Given the description of an element on the screen output the (x, y) to click on. 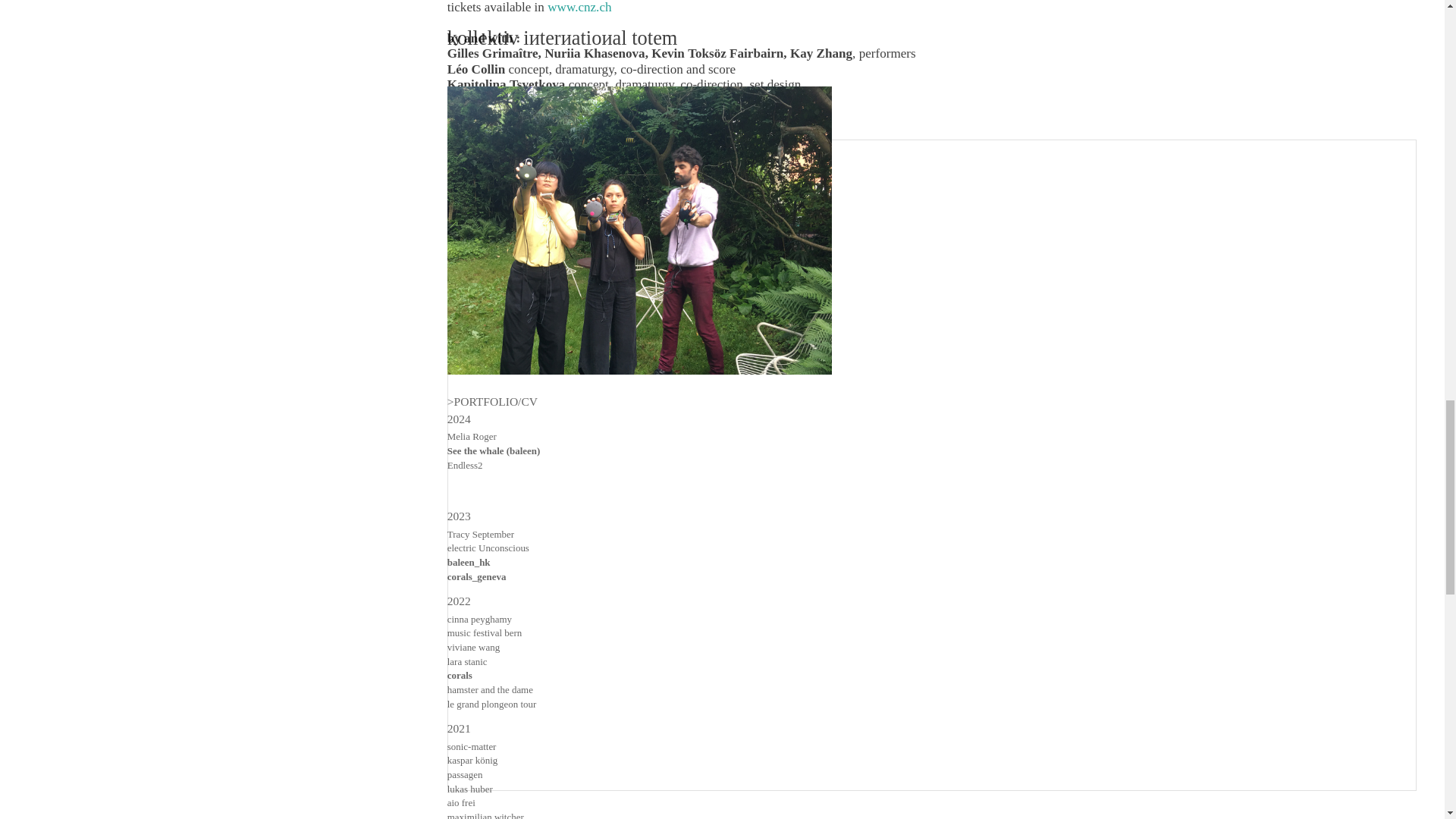
www.cnz.ch  (580, 7)
